Given the description of an element on the screen output the (x, y) to click on. 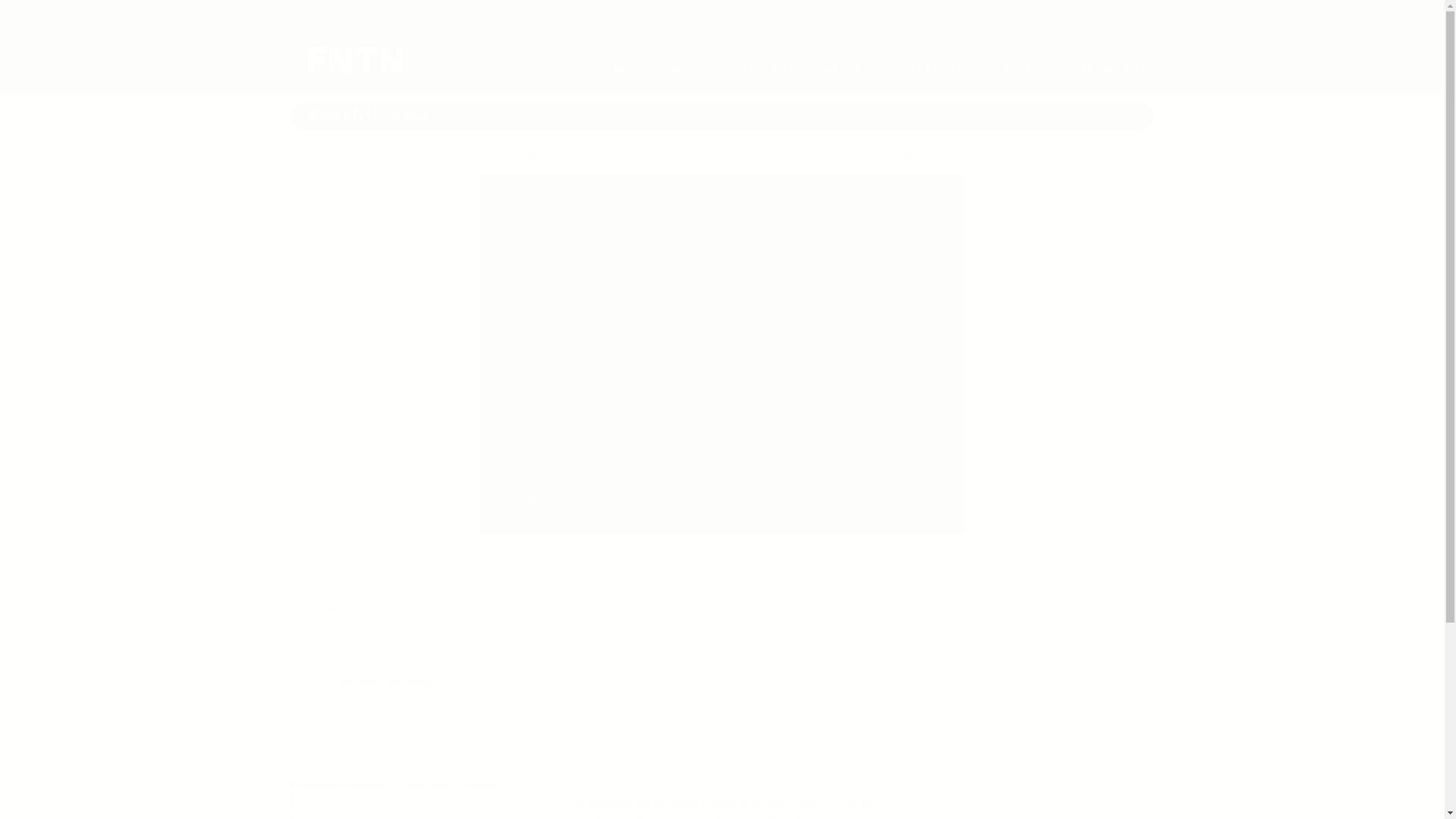
1.888.999.3356 (478, 12)
First Nations Telehealth Network (363, 12)
LIBRARY (1022, 69)
Login (1115, 12)
LATEST (771, 69)
CALENDAR (933, 69)
SERIES (847, 69)
TRAINING (1109, 69)
Harm Reduction Series- Collaborating with HRST July 22.pdf (722, 816)
